Given the description of an element on the screen output the (x, y) to click on. 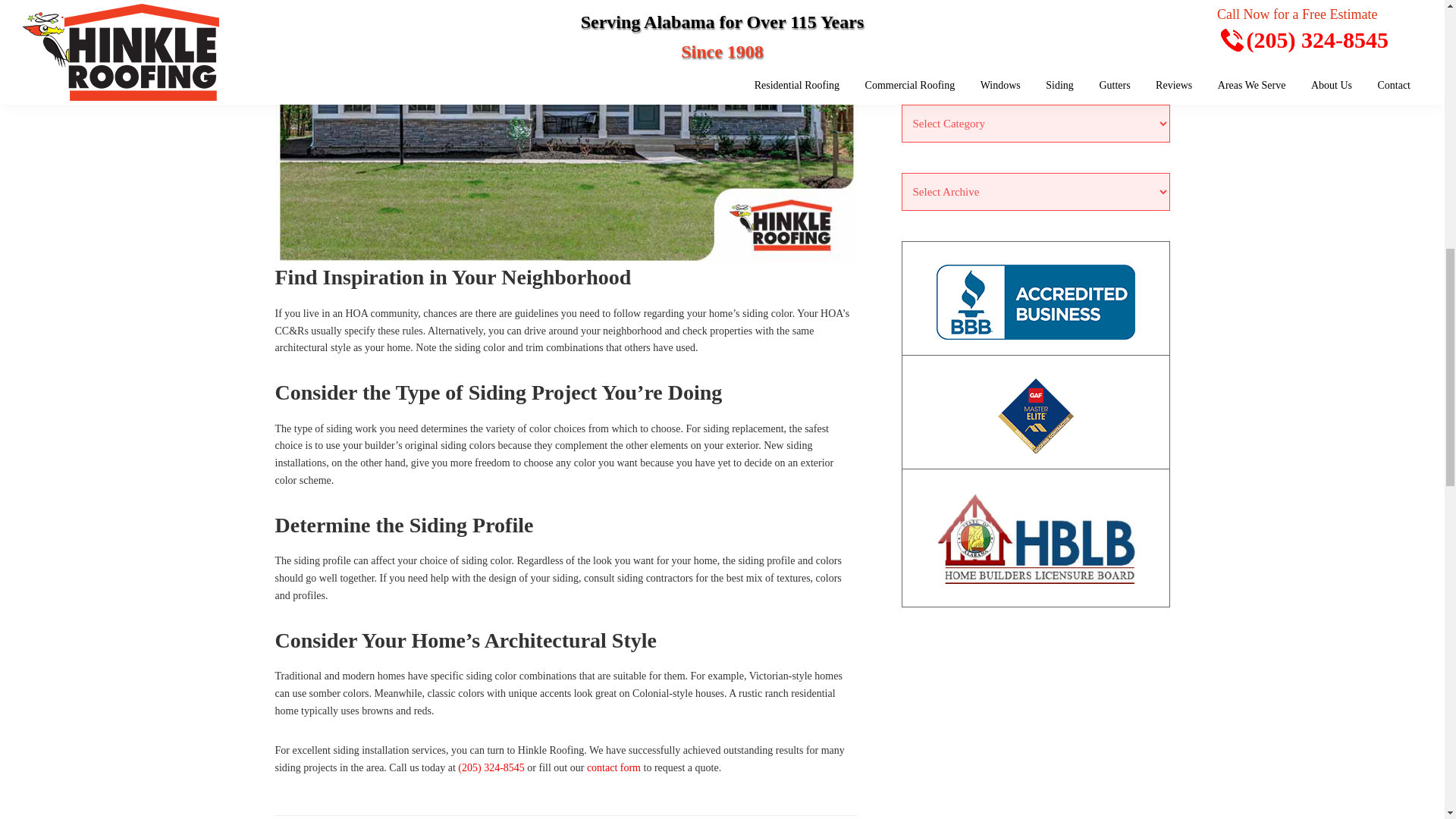
HBLB - Home Builders Licensure Board (1035, 537)
BBB Accredited Business (1035, 301)
GAF Master Elite (1035, 415)
